Given the description of an element on the screen output the (x, y) to click on. 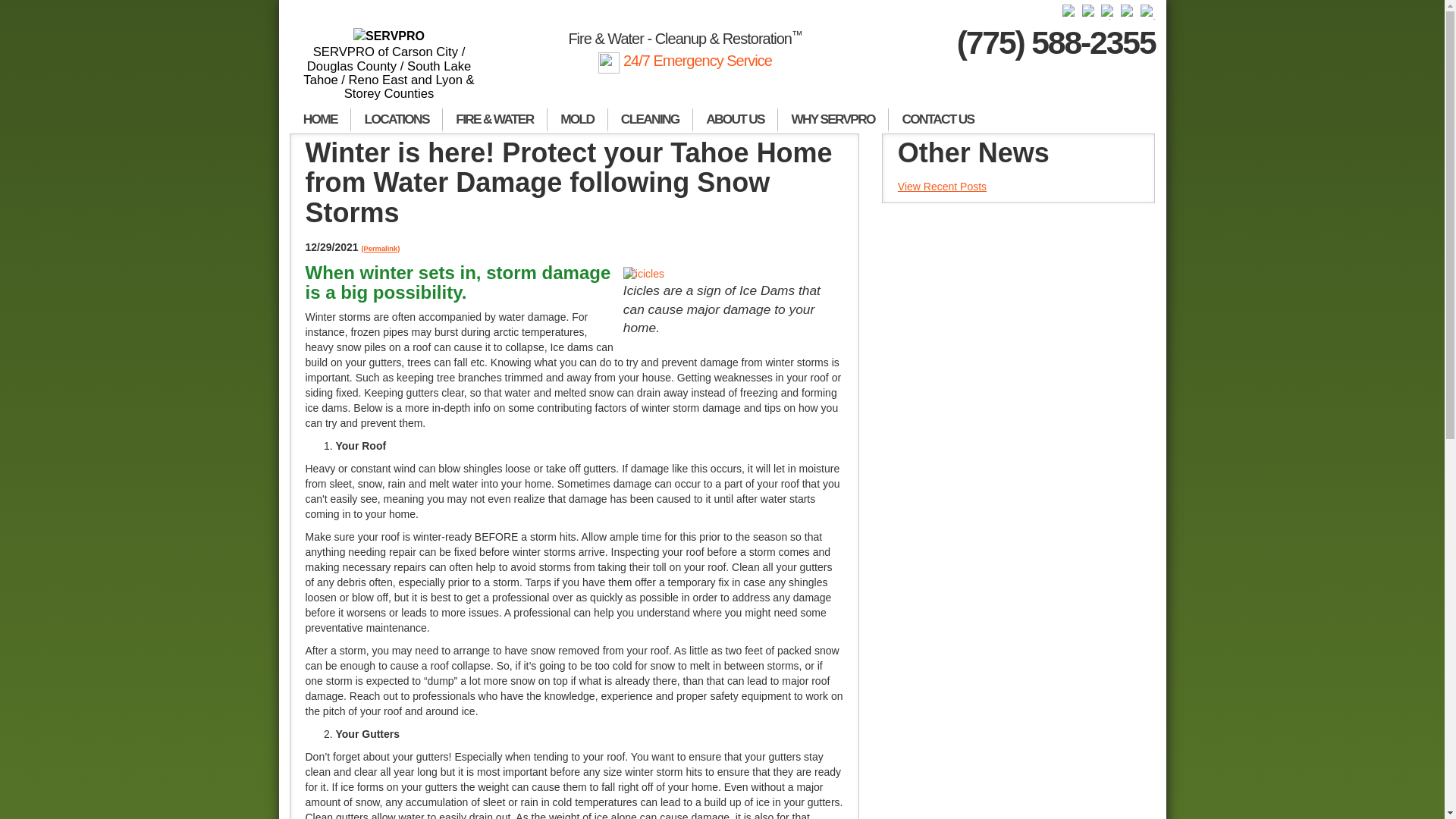
MOLD (577, 120)
LOCATIONS (396, 120)
HOME (319, 120)
CLEANING (650, 120)
